Given the description of an element on the screen output the (x, y) to click on. 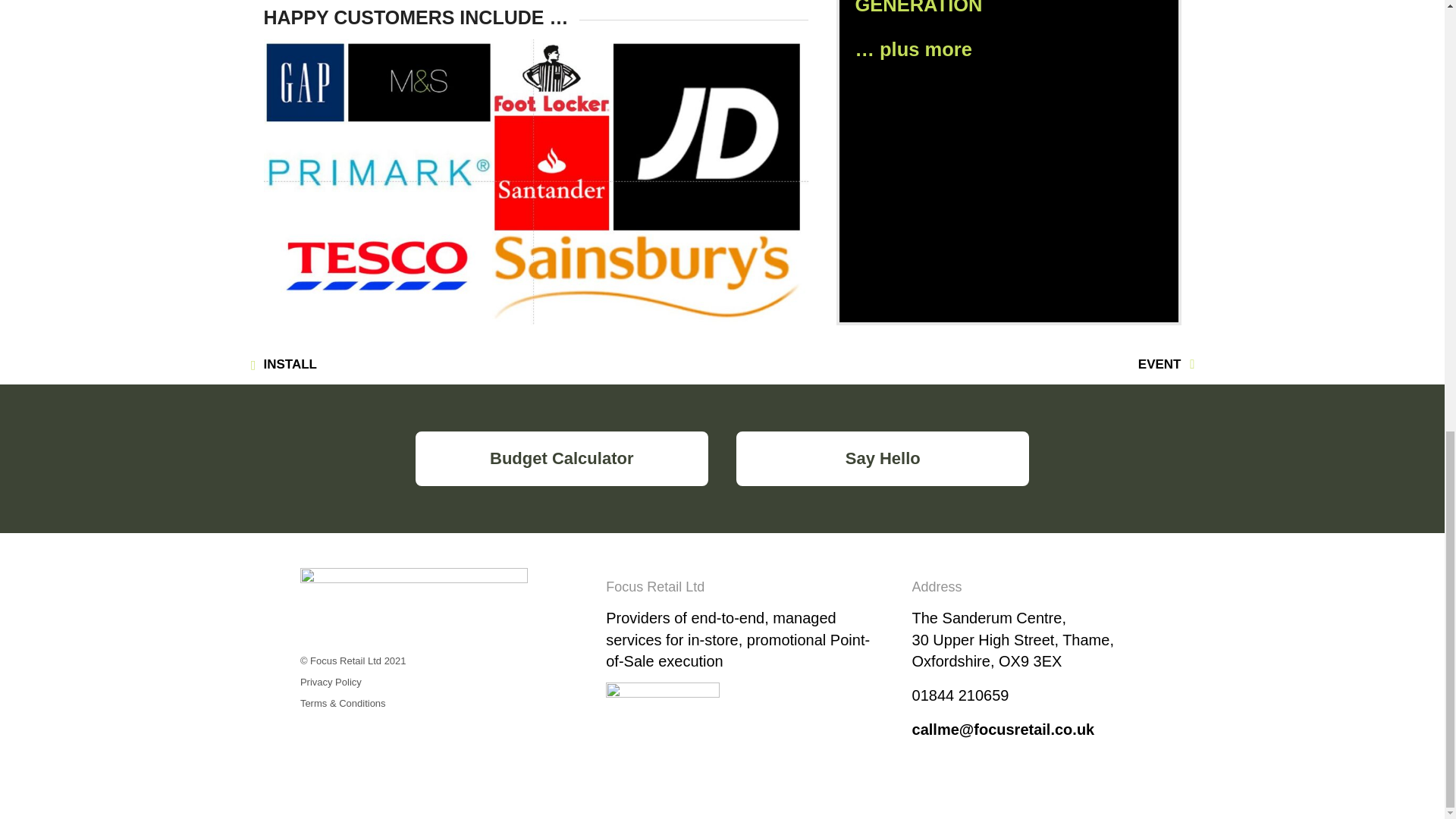
Install (290, 364)
Privacy Policy (330, 681)
Say Hello (882, 458)
Budget Calculator (561, 458)
INSTALL (290, 364)
EVENT (1159, 364)
Event (1159, 364)
